Given the description of an element on the screen output the (x, y) to click on. 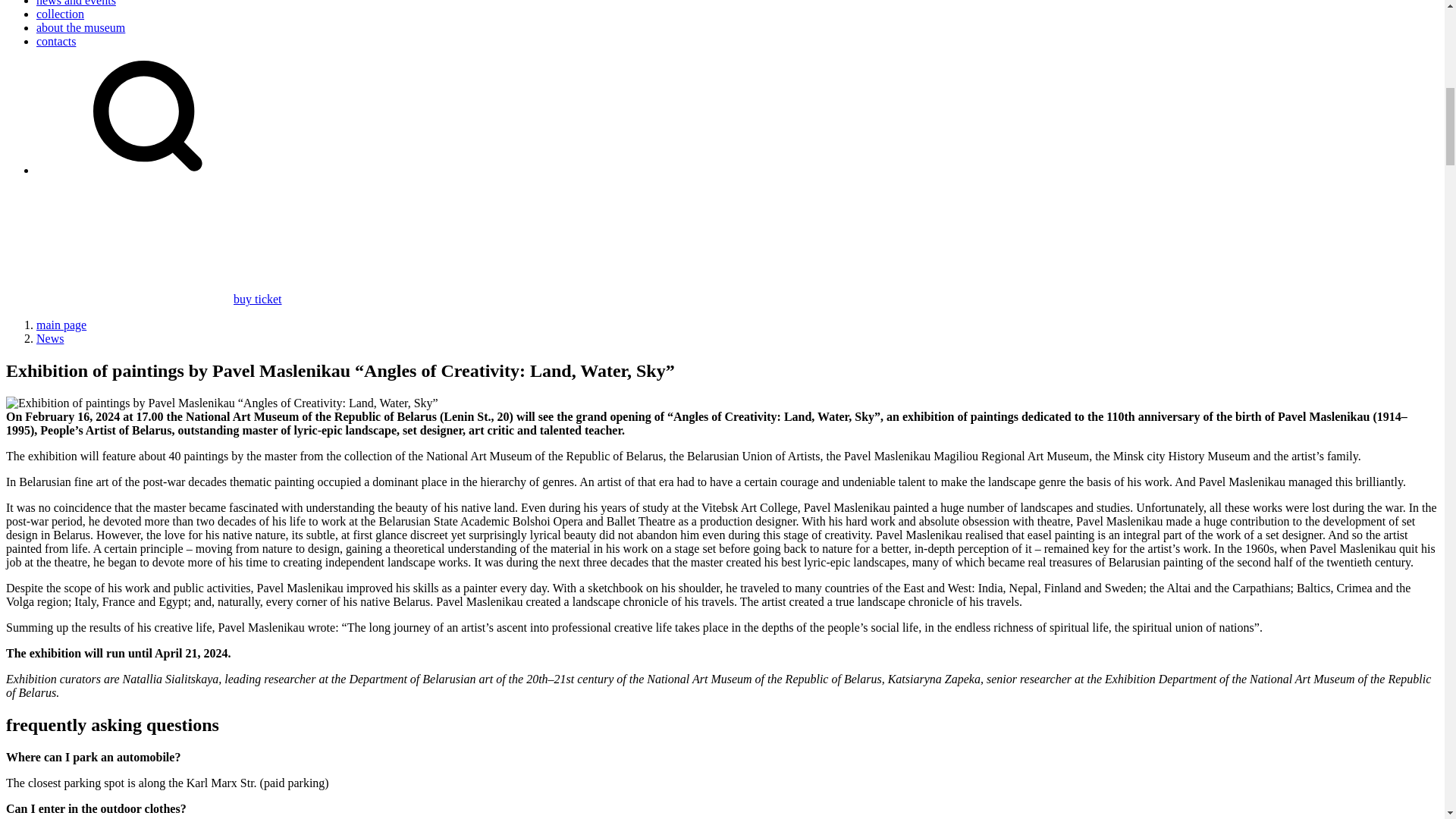
buy ticket (143, 298)
collection (60, 13)
News (50, 338)
news and events (76, 3)
contacts (55, 41)
about the museum (80, 27)
main page (60, 324)
